Given the description of an element on the screen output the (x, y) to click on. 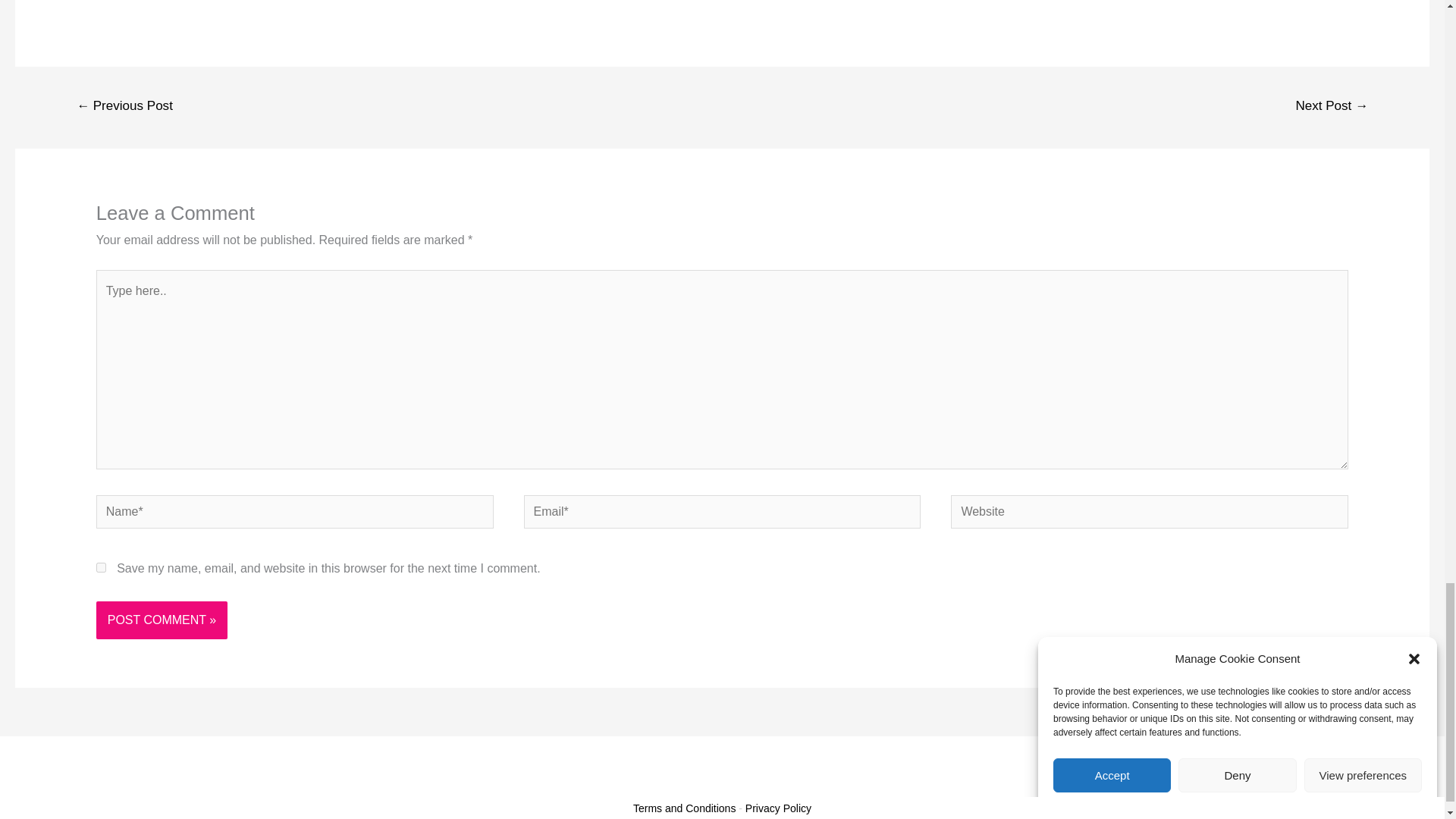
yes (101, 567)
